Given the description of an element on the screen output the (x, y) to click on. 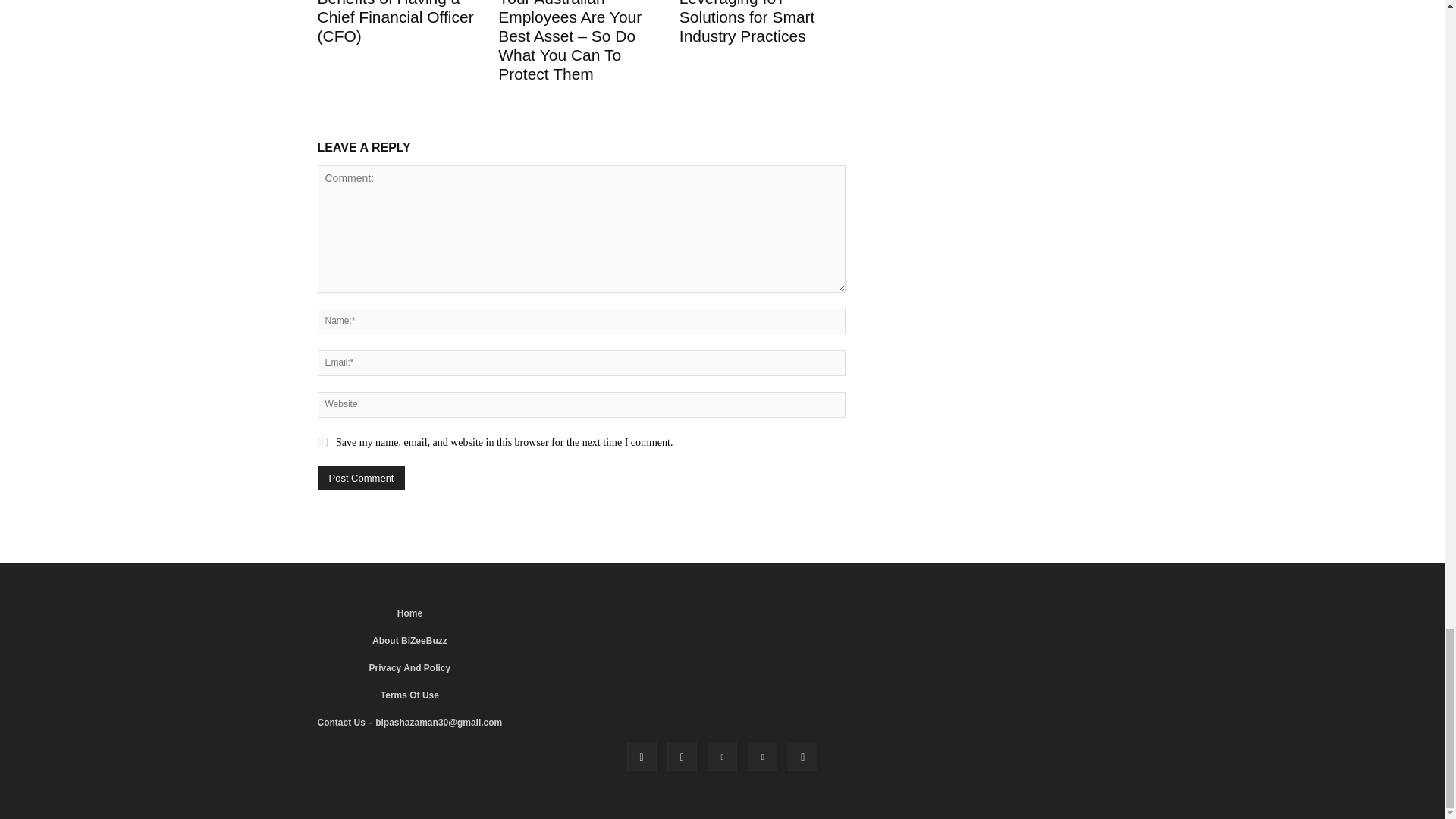
yes (321, 442)
Post Comment (360, 477)
